Given the description of an element on the screen output the (x, y) to click on. 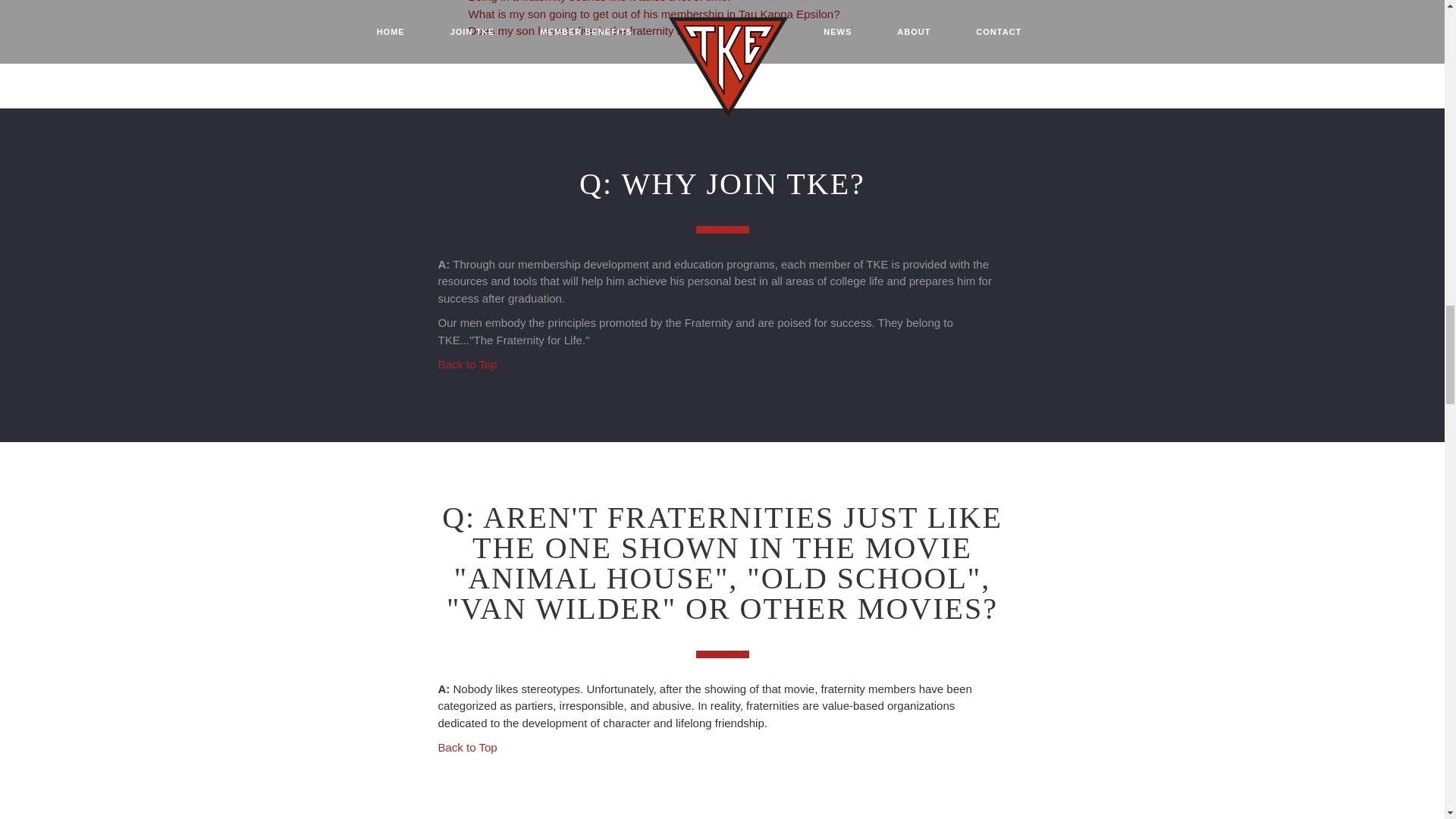
Does my son have to live in the fraternity house? (591, 30)
Back to Top (467, 747)
Being in a fraternity sounds like it takes a lot of time. (599, 1)
Back to Top (467, 364)
